Given the description of an element on the screen output the (x, y) to click on. 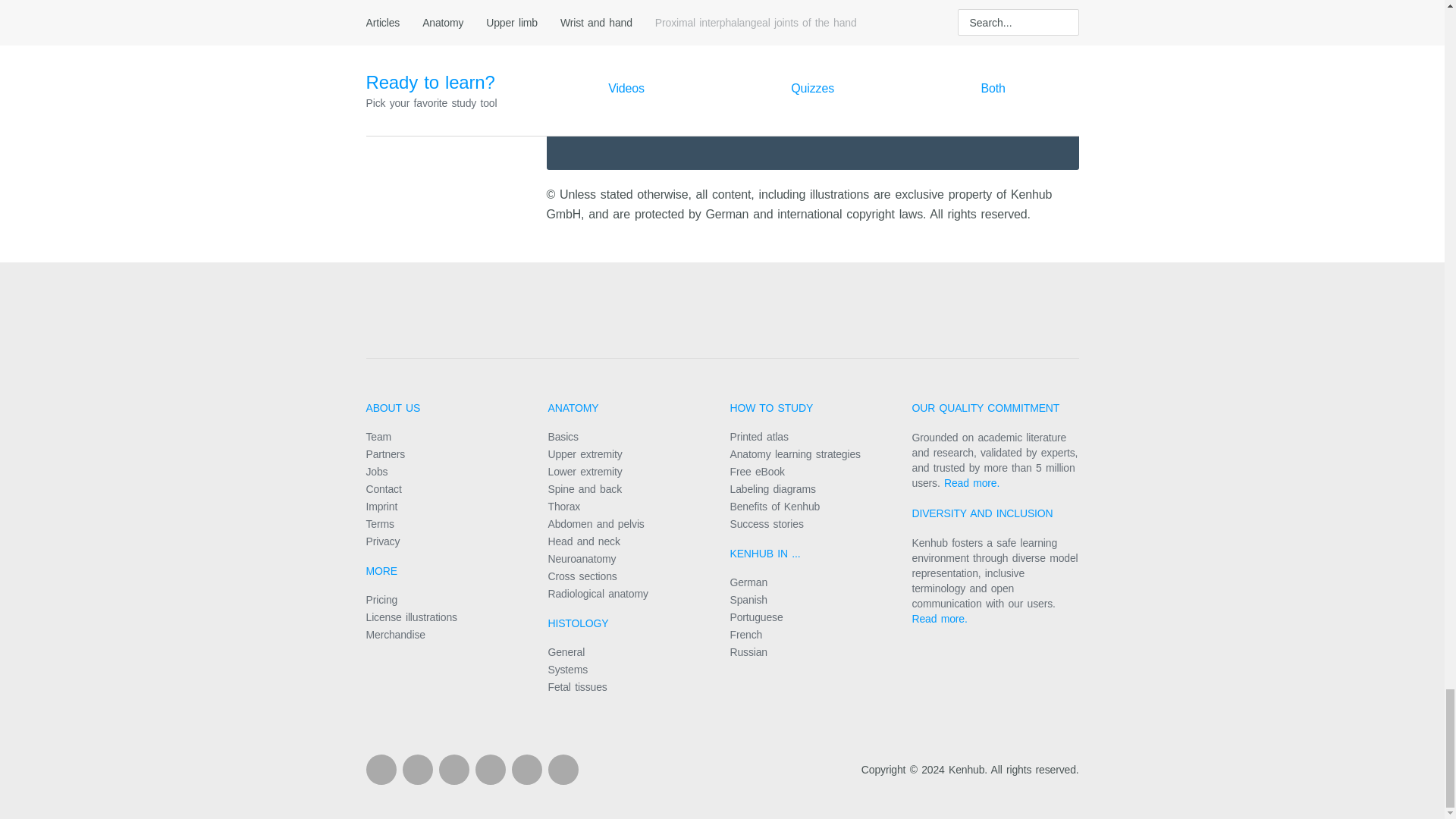
Tiktok (562, 769)
Instagram (453, 769)
Youtube (416, 769)
Twitter (526, 769)
Facebook (380, 769)
Pinterest (489, 769)
